Given the description of an element on the screen output the (x, y) to click on. 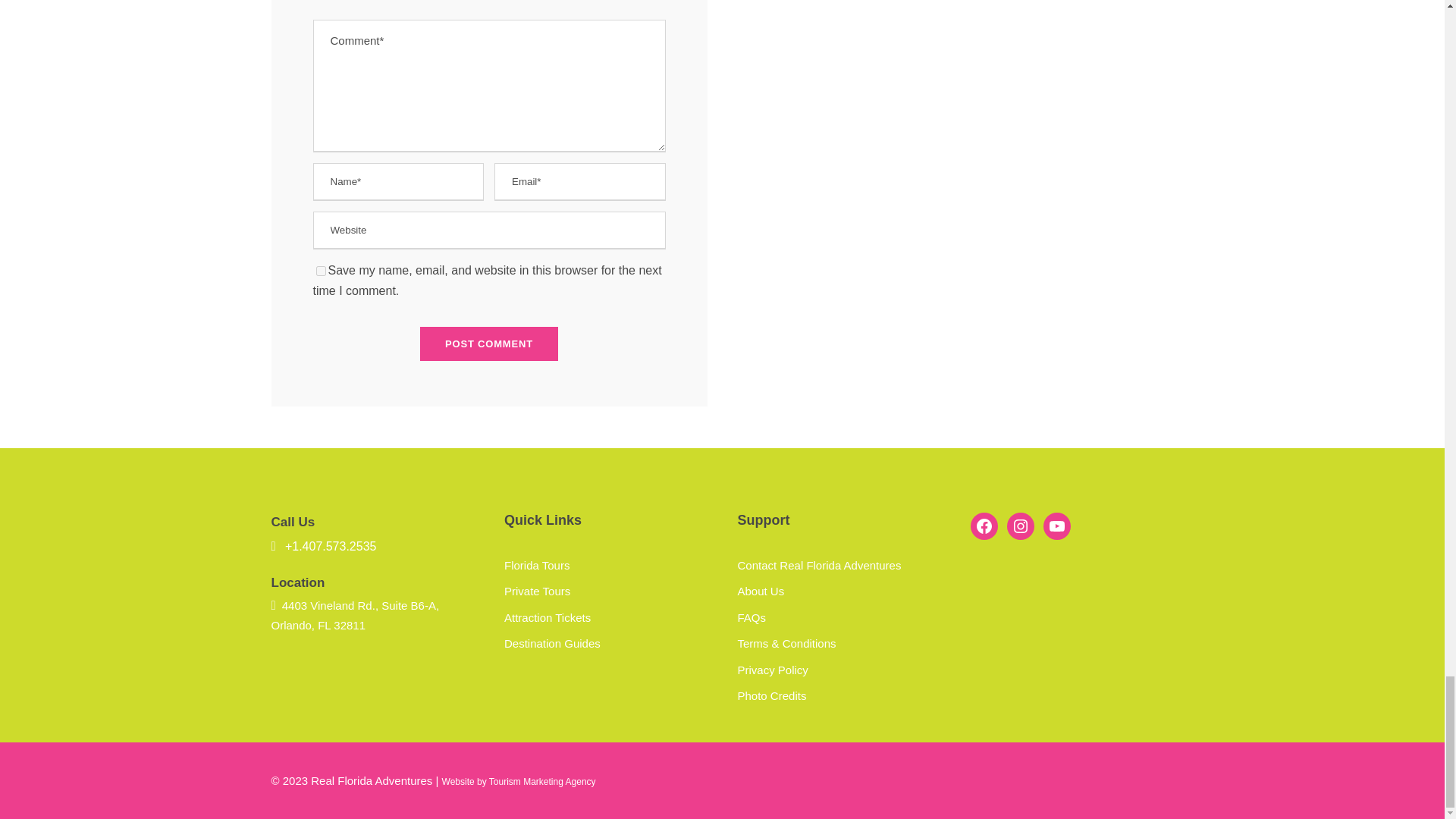
Post Comment (488, 343)
yes (319, 271)
